Given the description of an element on the screen output the (x, y) to click on. 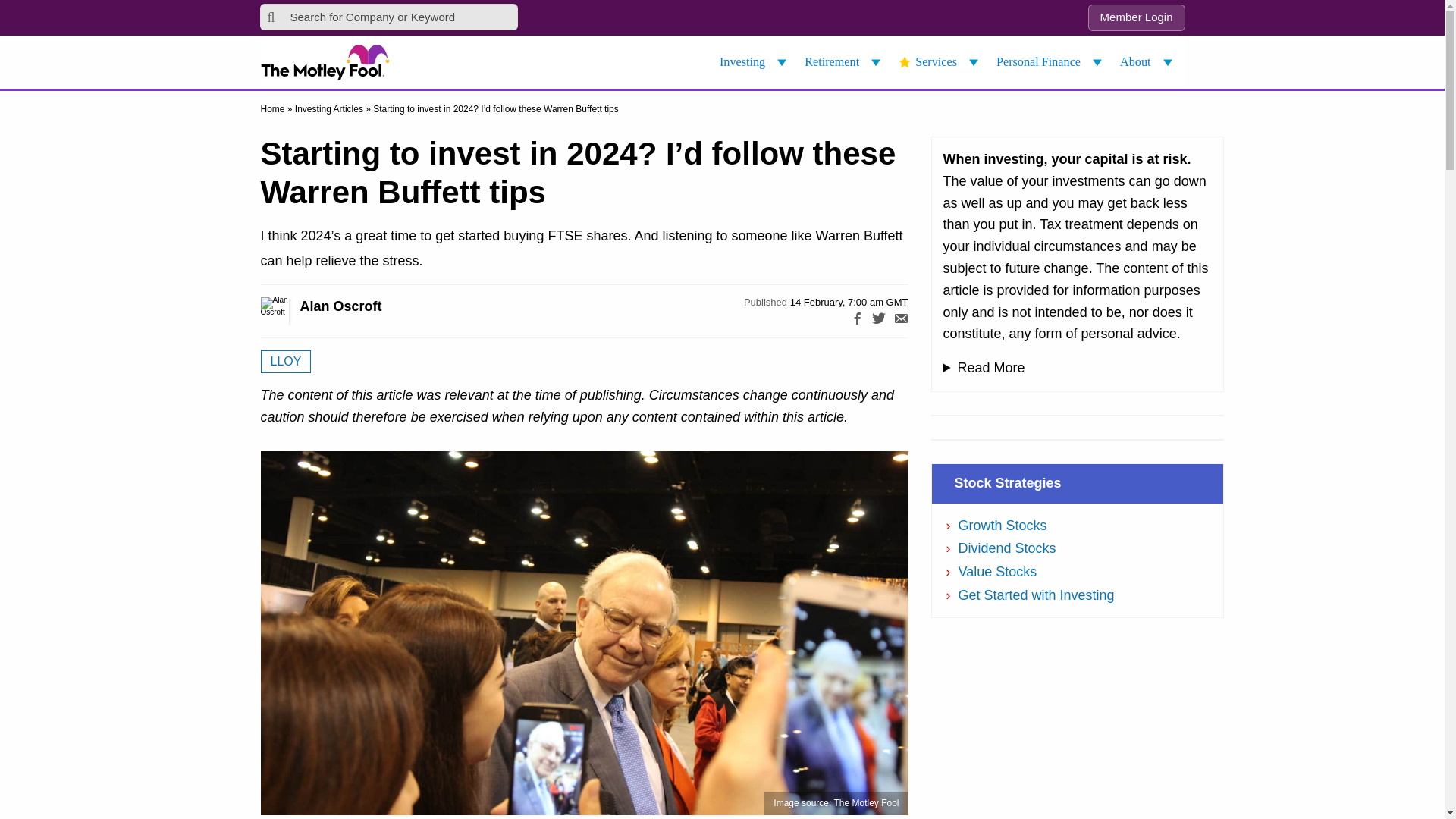
Alan Oscroft (290, 311)
Share by email (900, 321)
Share on Twitter (878, 321)
Share on Facebook (857, 321)
Services (941, 62)
Member Login (1136, 17)
Retirement (844, 62)
See more articles about LLOY (285, 361)
Investing (755, 62)
